Given the description of an element on the screen output the (x, y) to click on. 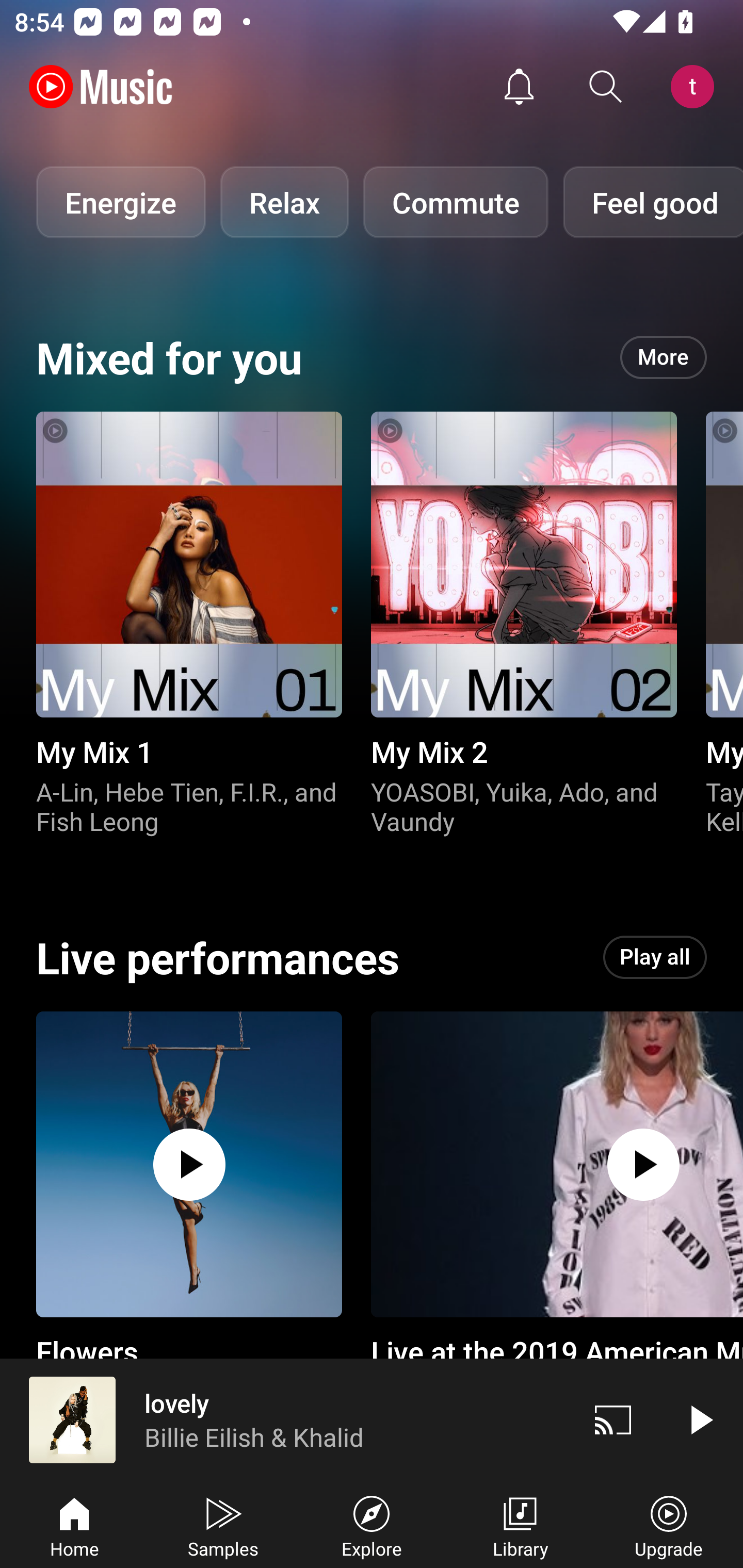
Activity feed (518, 86)
Search (605, 86)
Account (696, 86)
lovely Billie Eilish & Khalid (284, 1419)
Cast. Disconnected (612, 1419)
Play video (699, 1419)
Home (74, 1524)
Samples (222, 1524)
Explore (371, 1524)
Library (519, 1524)
Upgrade (668, 1524)
